Given the description of an element on the screen output the (x, y) to click on. 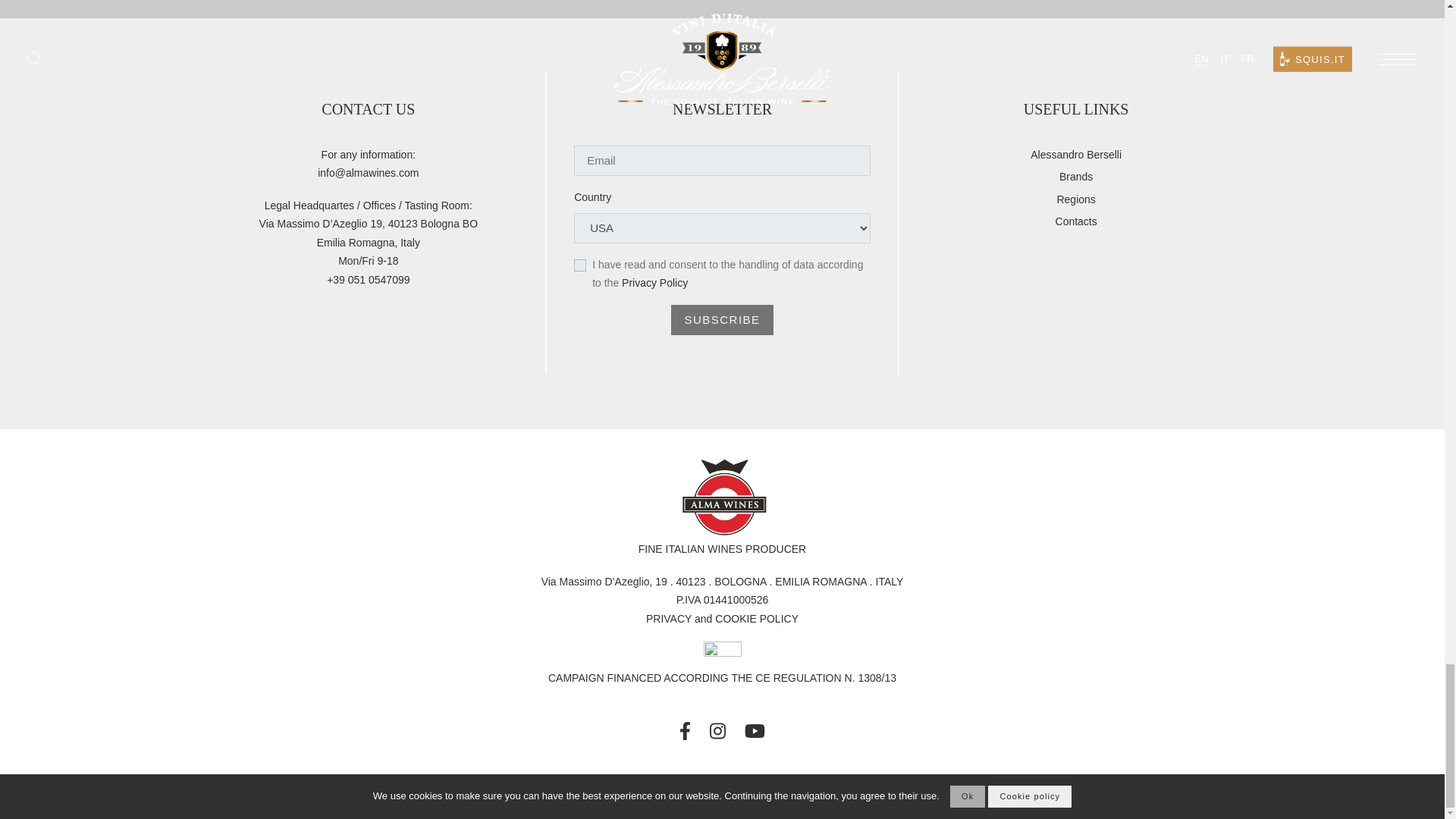
Regions (1075, 199)
Alessandro Berselli (1075, 154)
Contacts (1076, 221)
SUBSCRIBE (722, 319)
Brands (1076, 176)
Privacy Policy (654, 282)
